Given the description of an element on the screen output the (x, y) to click on. 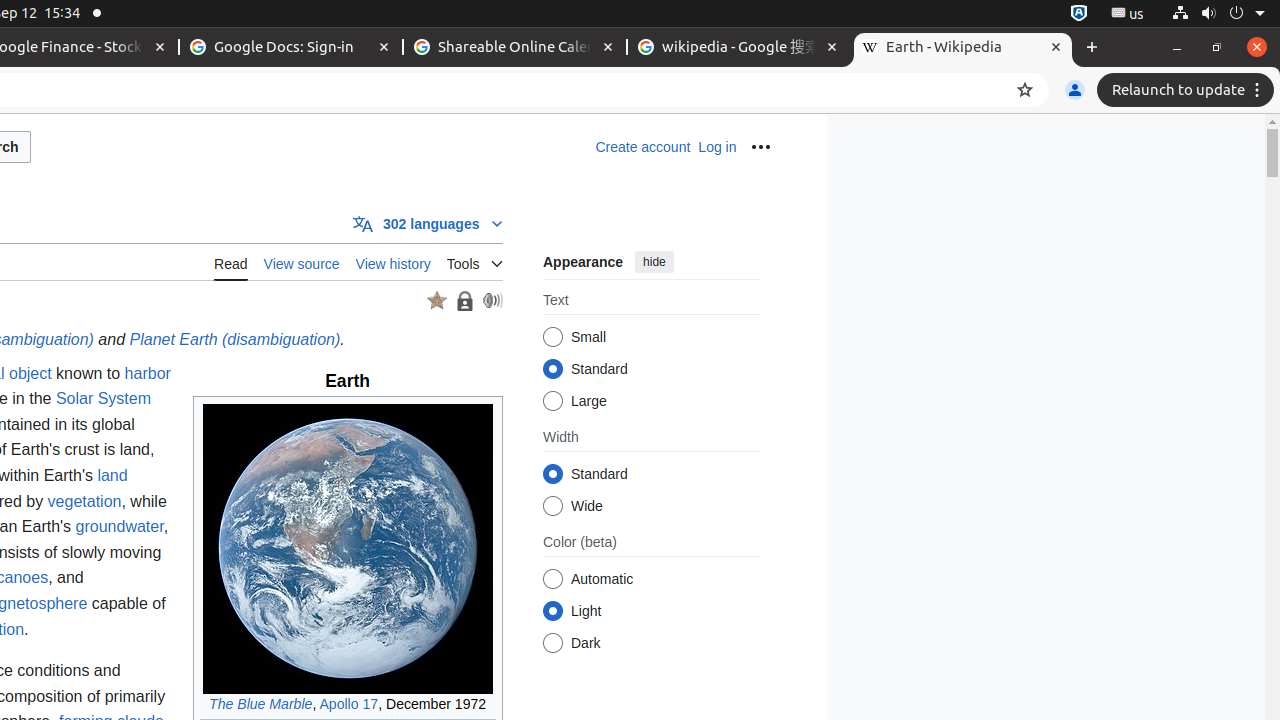
Google Docs: Sign-in - Memory usage - 33.3 MB Element type: page-tab (291, 47)
:1.72/StatusNotifierItem Element type: menu (1079, 13)
Relaunch to update Element type: push-button (1188, 90)
Automatic Element type: radio-button (552, 579)
